Given the description of an element on the screen output the (x, y) to click on. 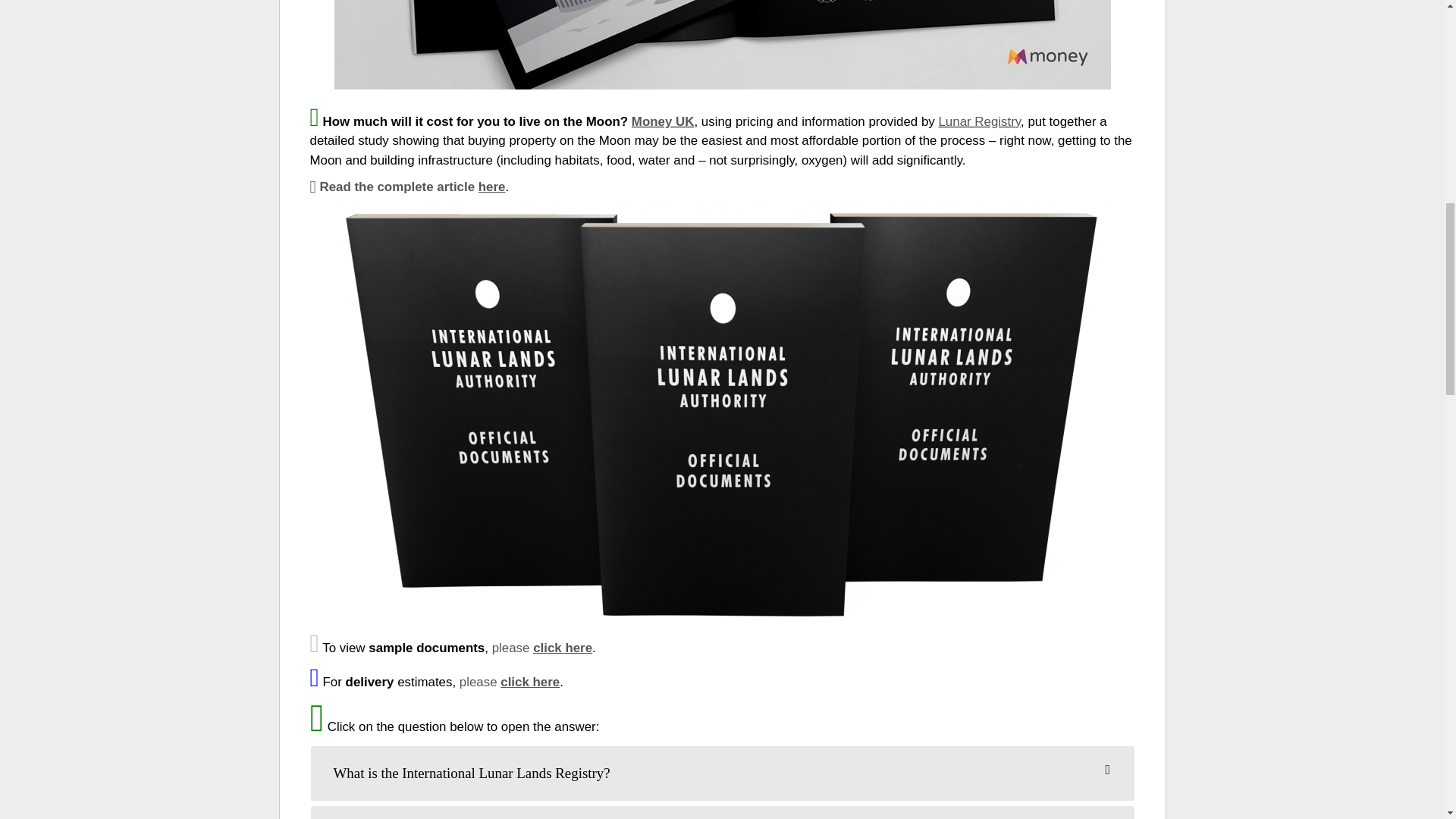
please click here (509, 681)
Money UK (662, 121)
Read the complete article here (406, 186)
please click here (542, 647)
Lunar Registry (978, 121)
What is the International Lunar Lands Registry? (721, 773)
